Given the description of an element on the screen output the (x, y) to click on. 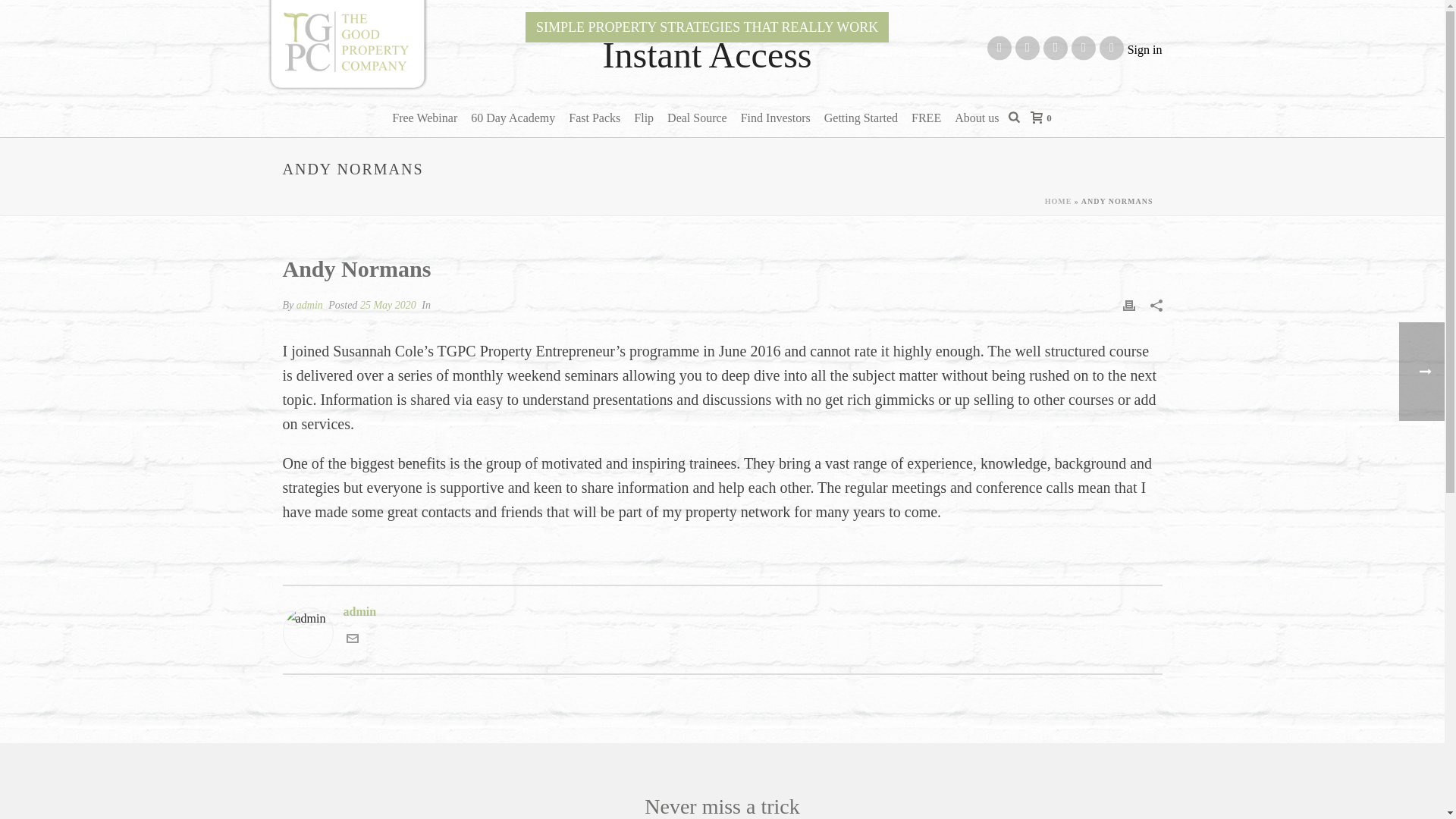
The Good Property Company (346, 45)
Posts by admin (310, 305)
Find Investors (774, 117)
Sign in (1143, 48)
Fast Packs (594, 117)
Free Webinar (424, 117)
Deal Source (697, 117)
 instagram (1055, 48)
Getting Started (860, 117)
Deal Source (697, 117)
Free Webinar (424, 117)
60 Day Academy (513, 117)
Get in touch with me via email (352, 640)
 facebook (999, 48)
 linkedin (1026, 48)
